Given the description of an element on the screen output the (x, y) to click on. 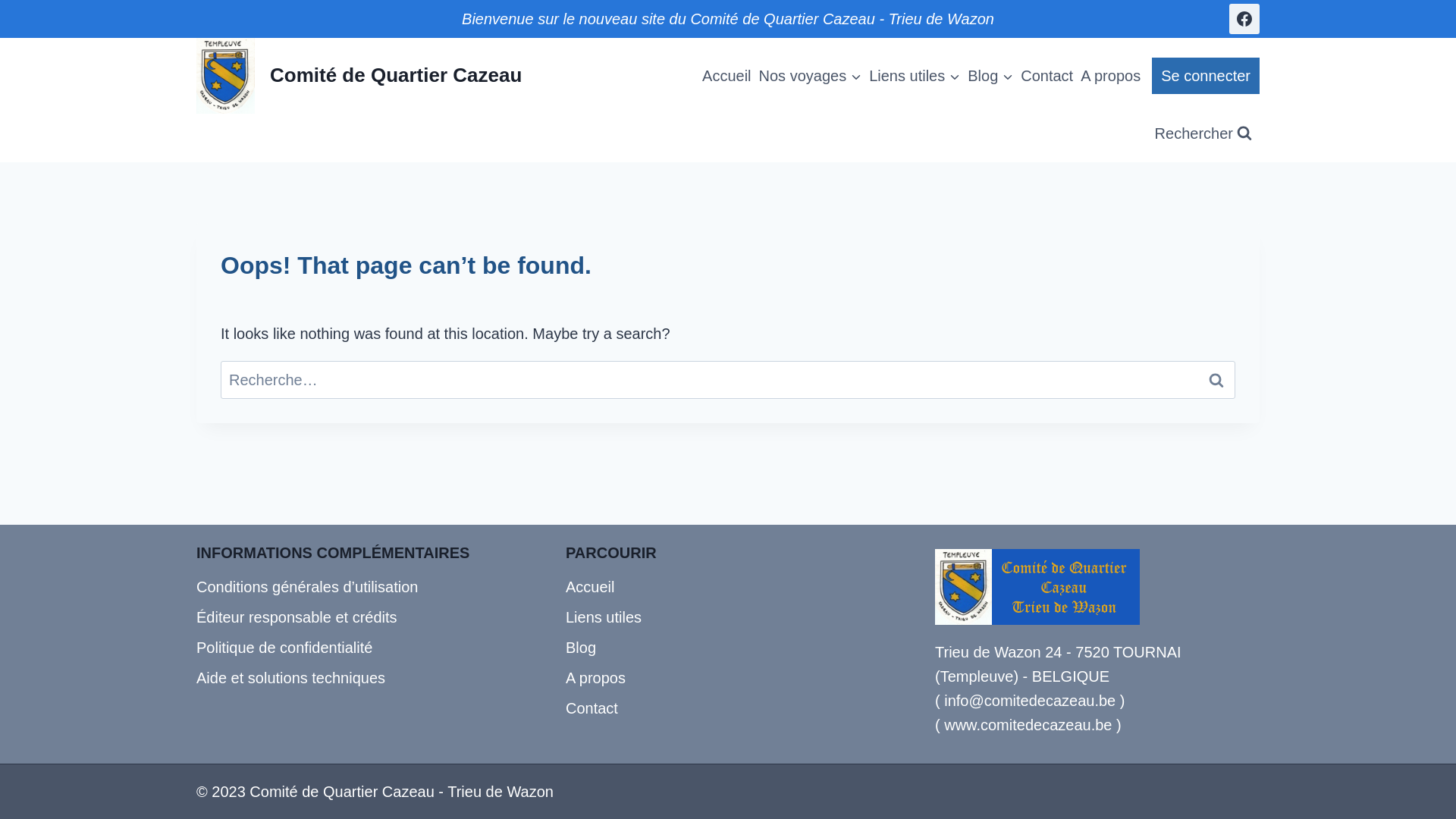
A propos Element type: text (727, 677)
Blog Element type: text (727, 647)
Liens utiles Element type: text (914, 75)
Accueil Element type: text (727, 586)
Rechercher Element type: text (1203, 133)
Nos voyages Element type: text (810, 75)
Se connecter Element type: text (1205, 75)
A propos Element type: text (1110, 75)
Contact Element type: text (727, 708)
Accueil Element type: text (726, 75)
Rechercher Element type: text (1216, 379)
Contact Element type: text (1046, 75)
Aide et solutions techniques Element type: text (358, 677)
Blog Element type: text (989, 75)
Liens utiles Element type: text (727, 617)
